Given the description of an element on the screen output the (x, y) to click on. 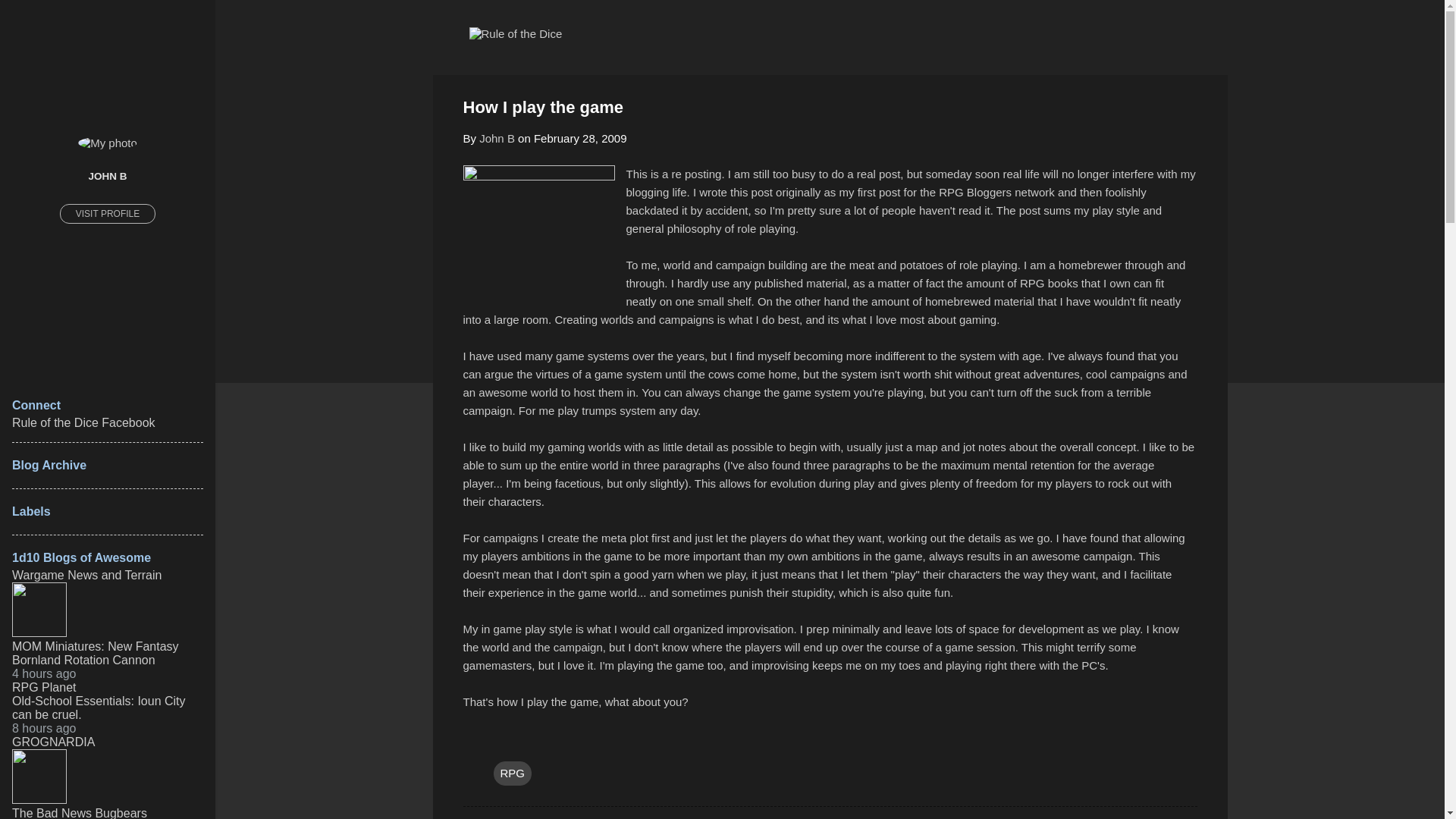
John B (497, 137)
February 28, 2009 (580, 137)
permanent link (580, 137)
author profile (497, 137)
Search (29, 18)
meta plot (624, 536)
RPG (512, 773)
